Given the description of an element on the screen output the (x, y) to click on. 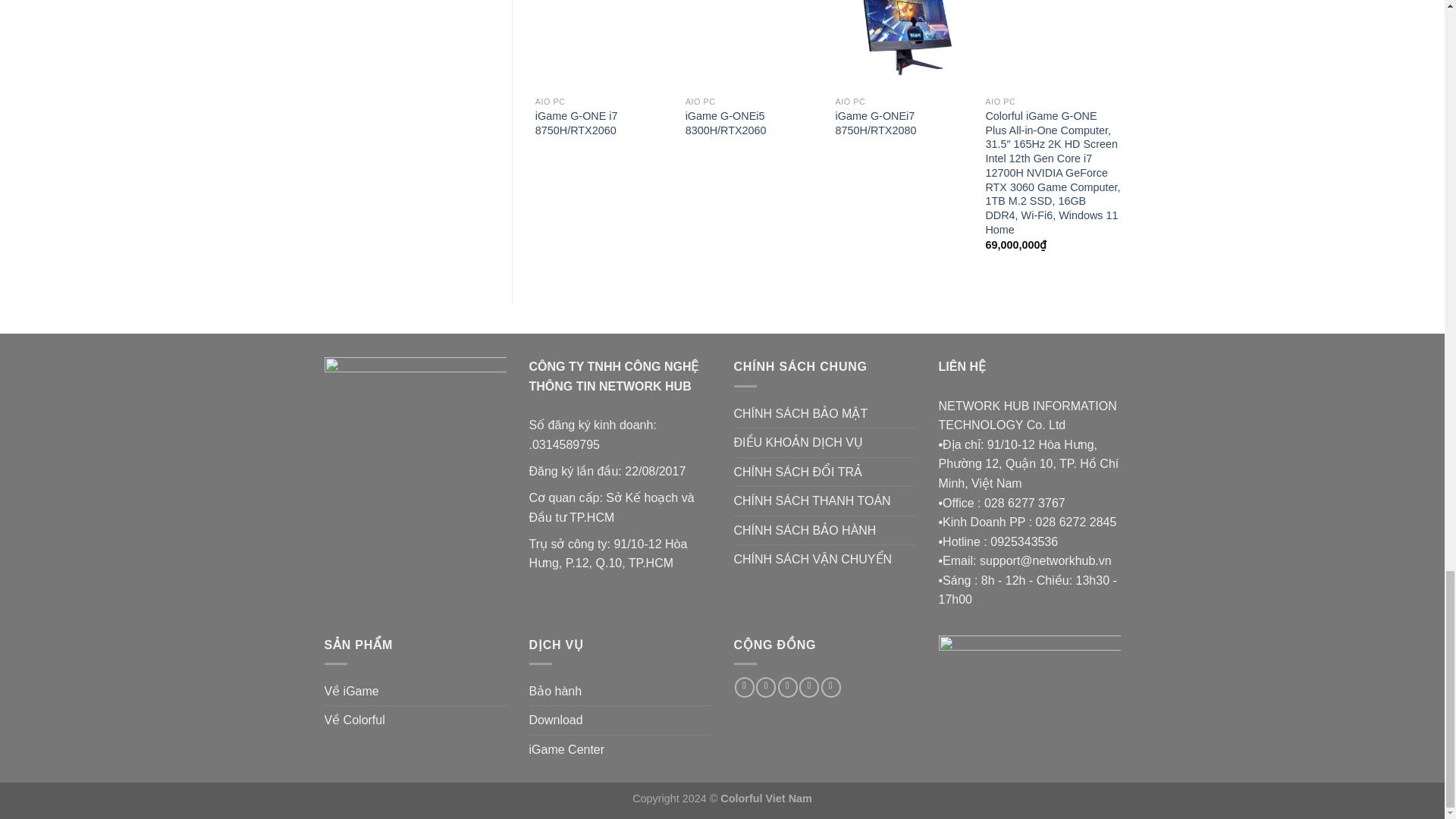
Send us an email (808, 687)
Follow on YouTube (831, 687)
Follow on Facebook (744, 687)
Follow on Instagram (765, 687)
Follow on Twitter (787, 687)
